Given the description of an element on the screen output the (x, y) to click on. 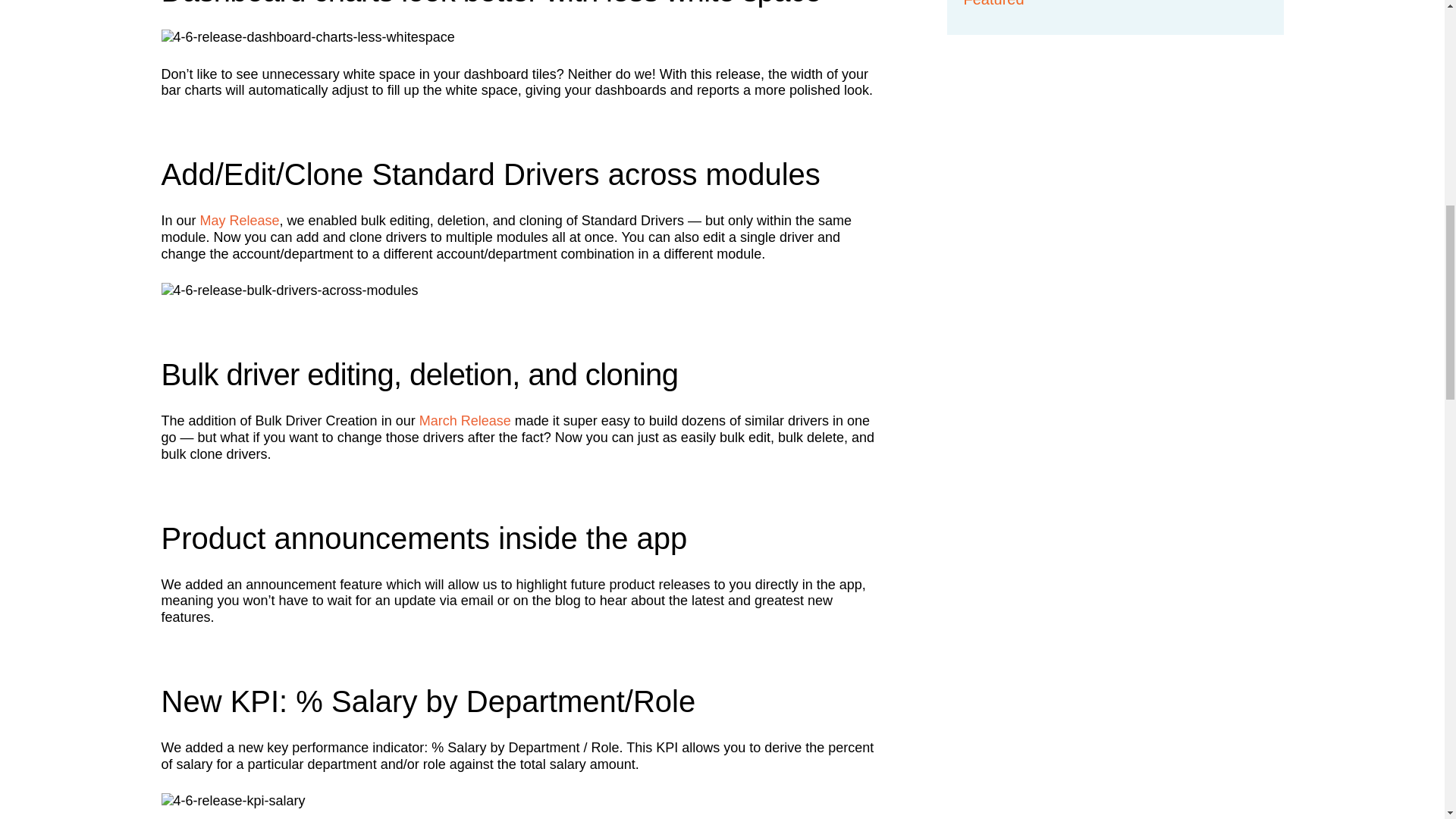
May Release (239, 220)
March Release (465, 420)
Featured (992, 3)
